Given the description of an element on the screen output the (x, y) to click on. 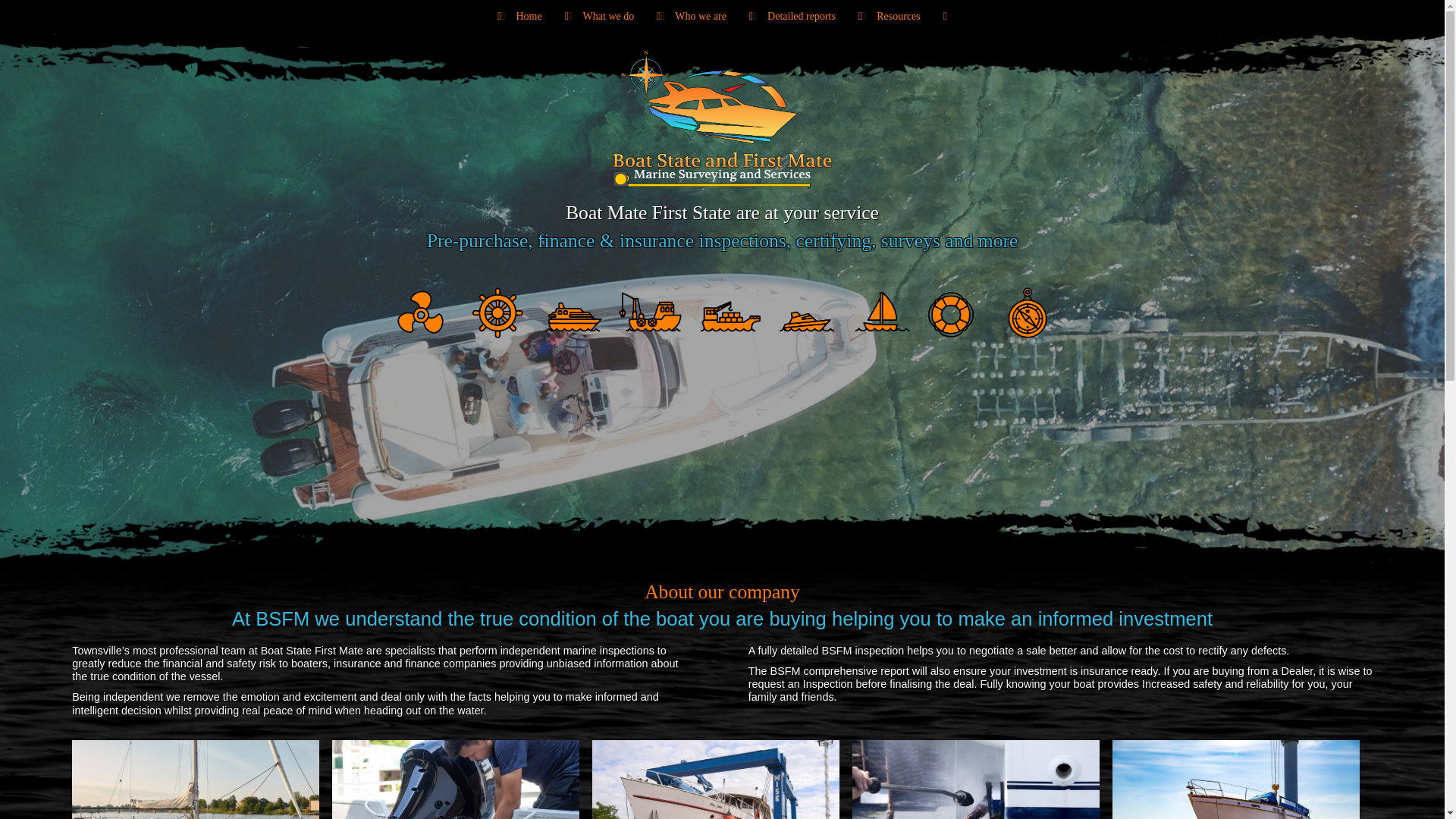
Resources (889, 16)
Home (519, 16)
Detailed reports (792, 16)
What we do (599, 16)
Who we are (691, 16)
